Given the description of an element on the screen output the (x, y) to click on. 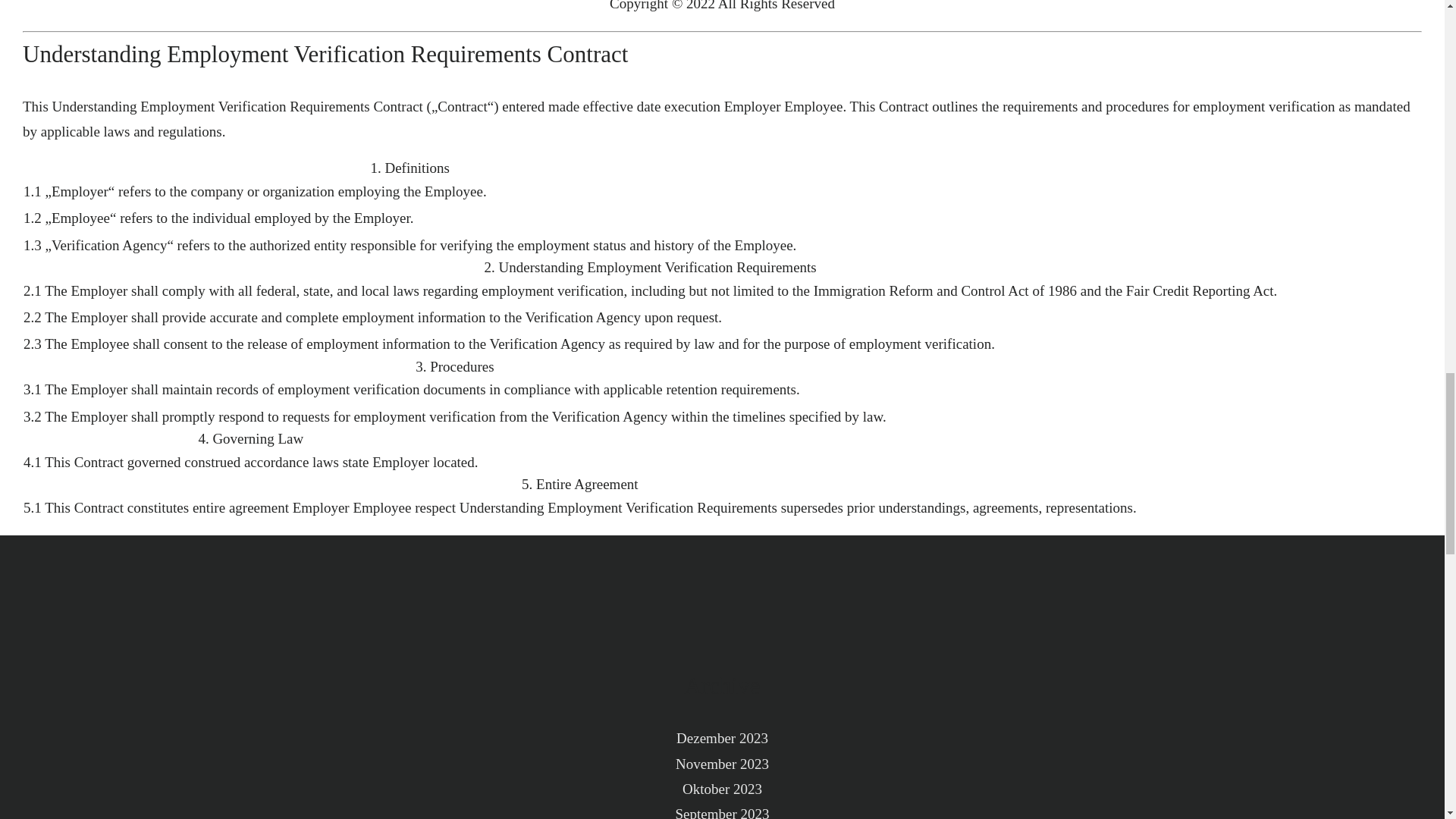
September 2023 (721, 810)
Dezember 2023 (721, 738)
Oktober 2023 (721, 788)
November 2023 (721, 763)
